Given the description of an element on the screen output the (x, y) to click on. 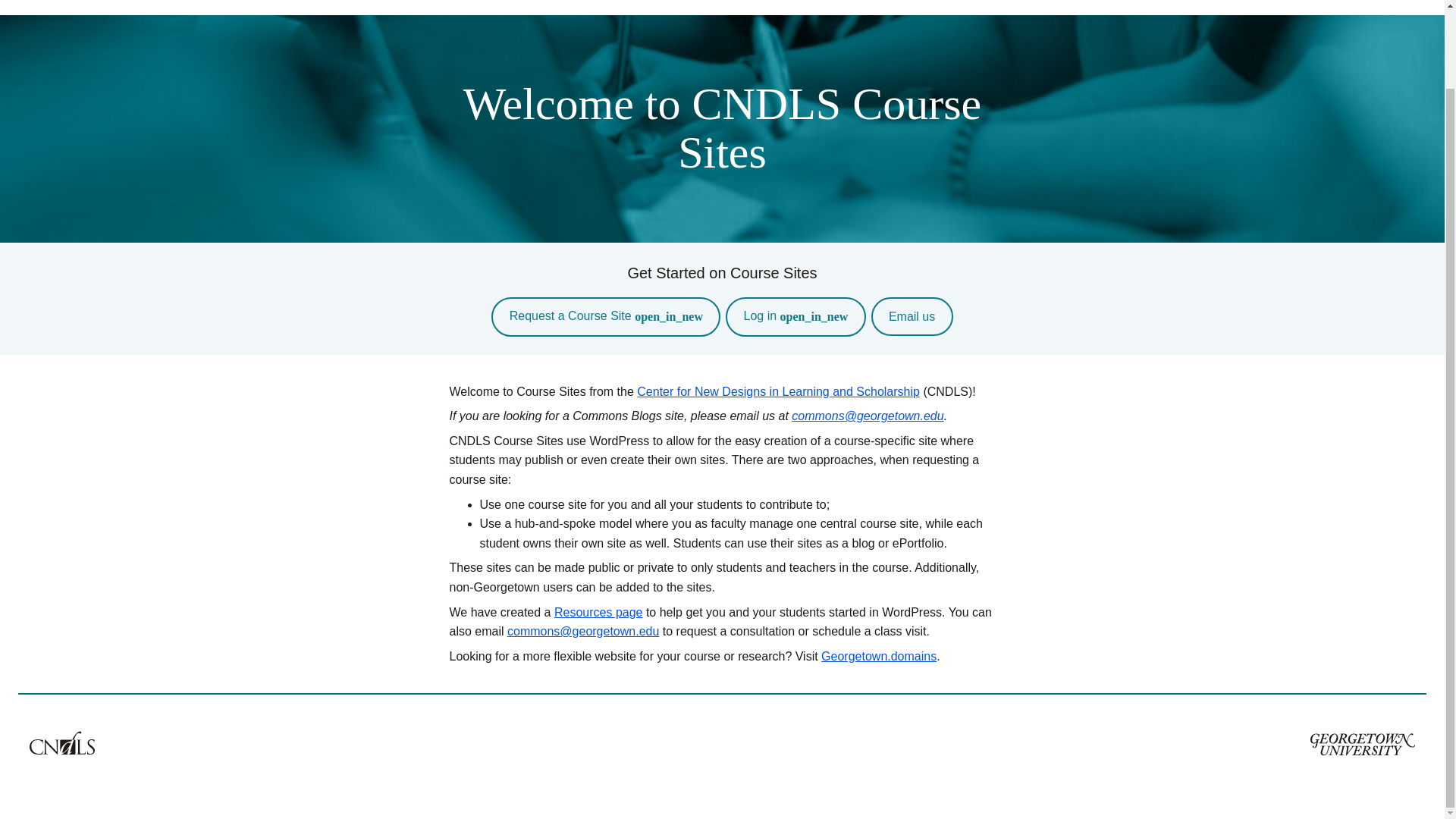
Home (1297, 4)
Georgetown.domains (878, 656)
Email us (911, 316)
Resources (1379, 4)
Center for New Designs in Learning and Scholarship (778, 391)
Resources page (598, 612)
